Given the description of an element on the screen output the (x, y) to click on. 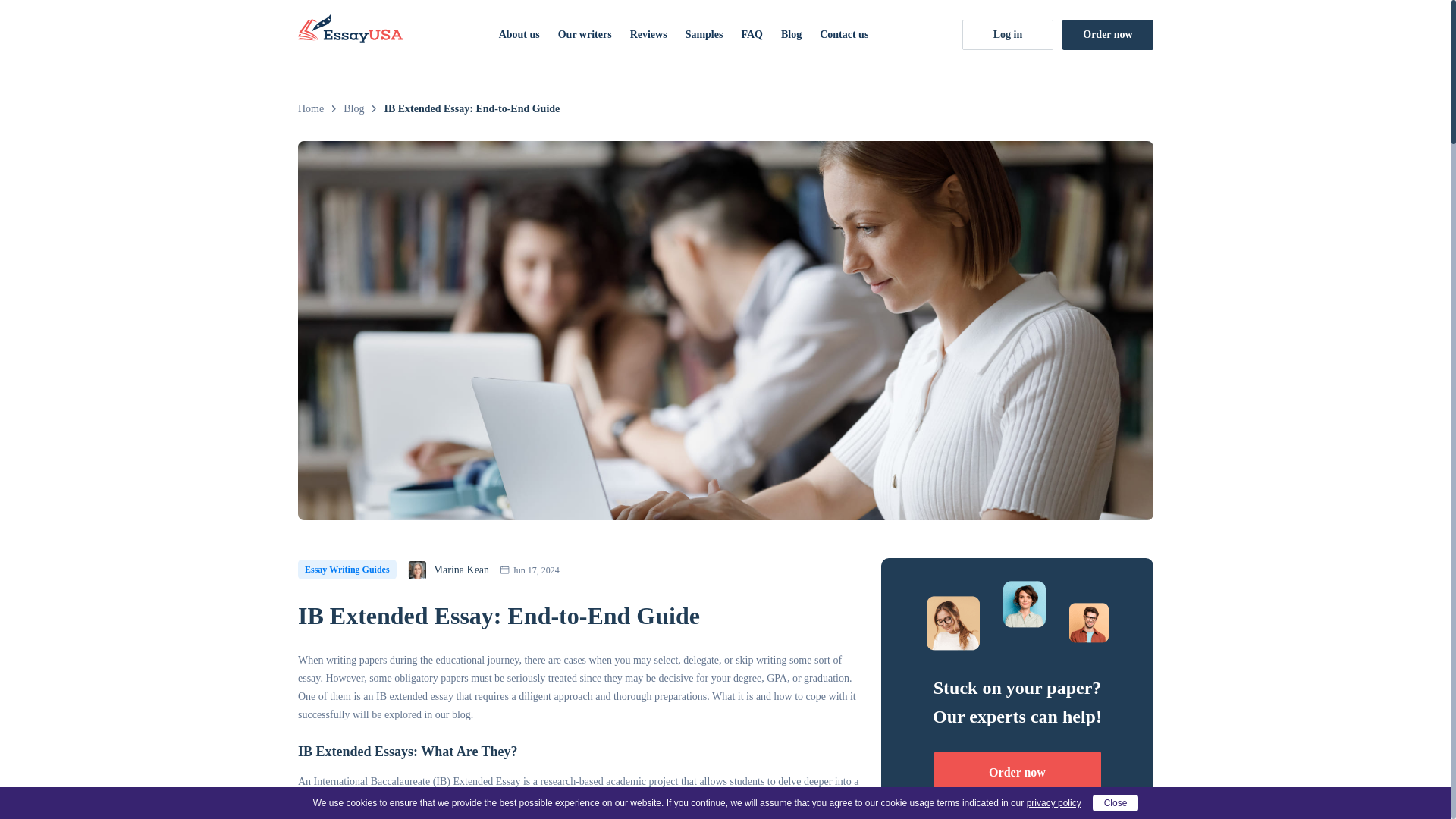
FAQ (751, 34)
Blog (353, 108)
About us (519, 34)
Blog (791, 34)
Log in (1007, 34)
Our writers (584, 34)
Order now (1107, 34)
Contact us (843, 34)
Samples (704, 34)
Reviews (648, 34)
Home (310, 108)
Order now (1017, 772)
Essay Writing Guides (347, 569)
